Given the description of an element on the screen output the (x, y) to click on. 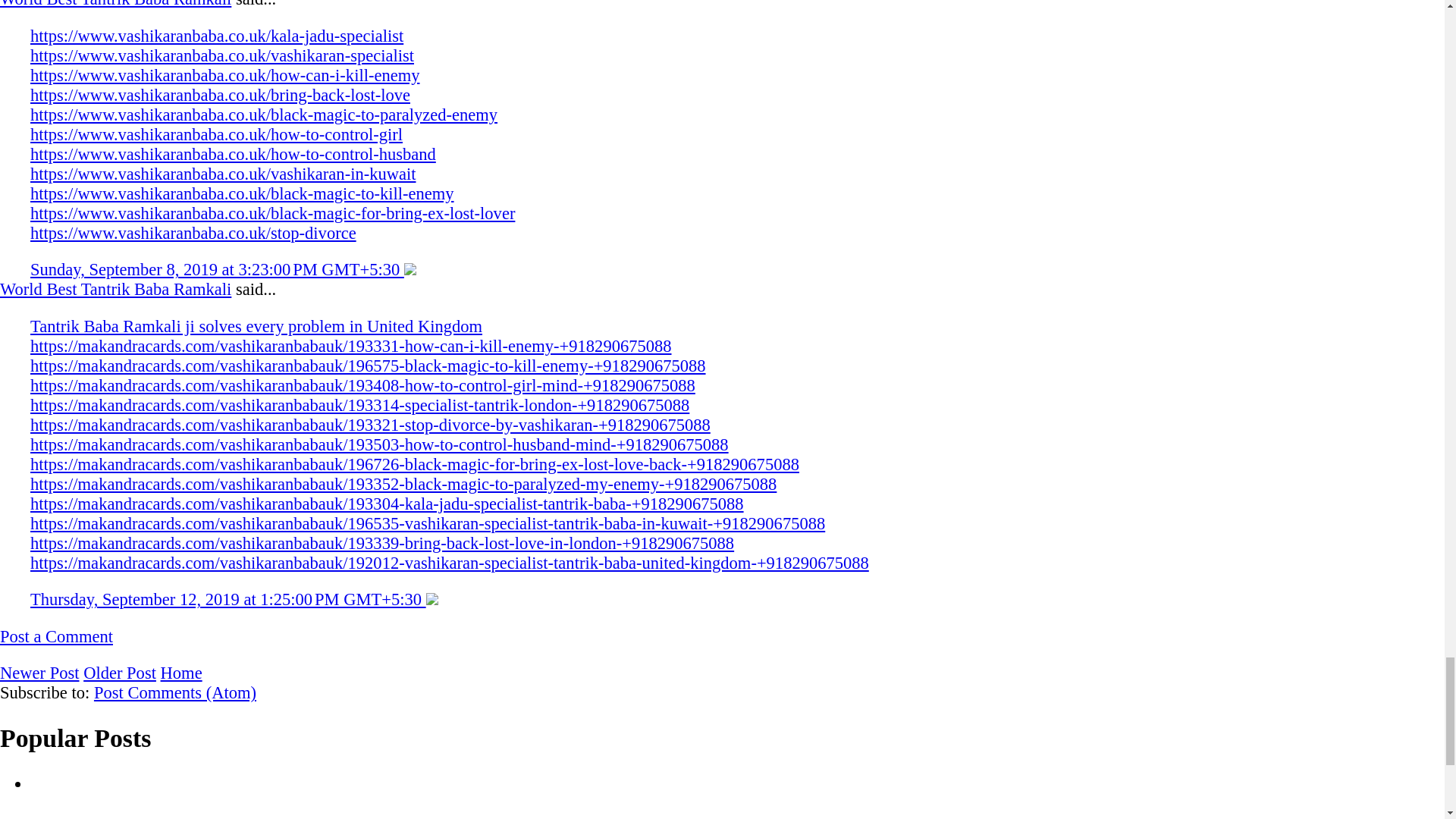
comment permalink (228, 599)
Older Post (118, 672)
Newer Post (40, 672)
comment permalink (217, 269)
World Best Tantrik Baba Ramkali (115, 4)
